Given the description of an element on the screen output the (x, y) to click on. 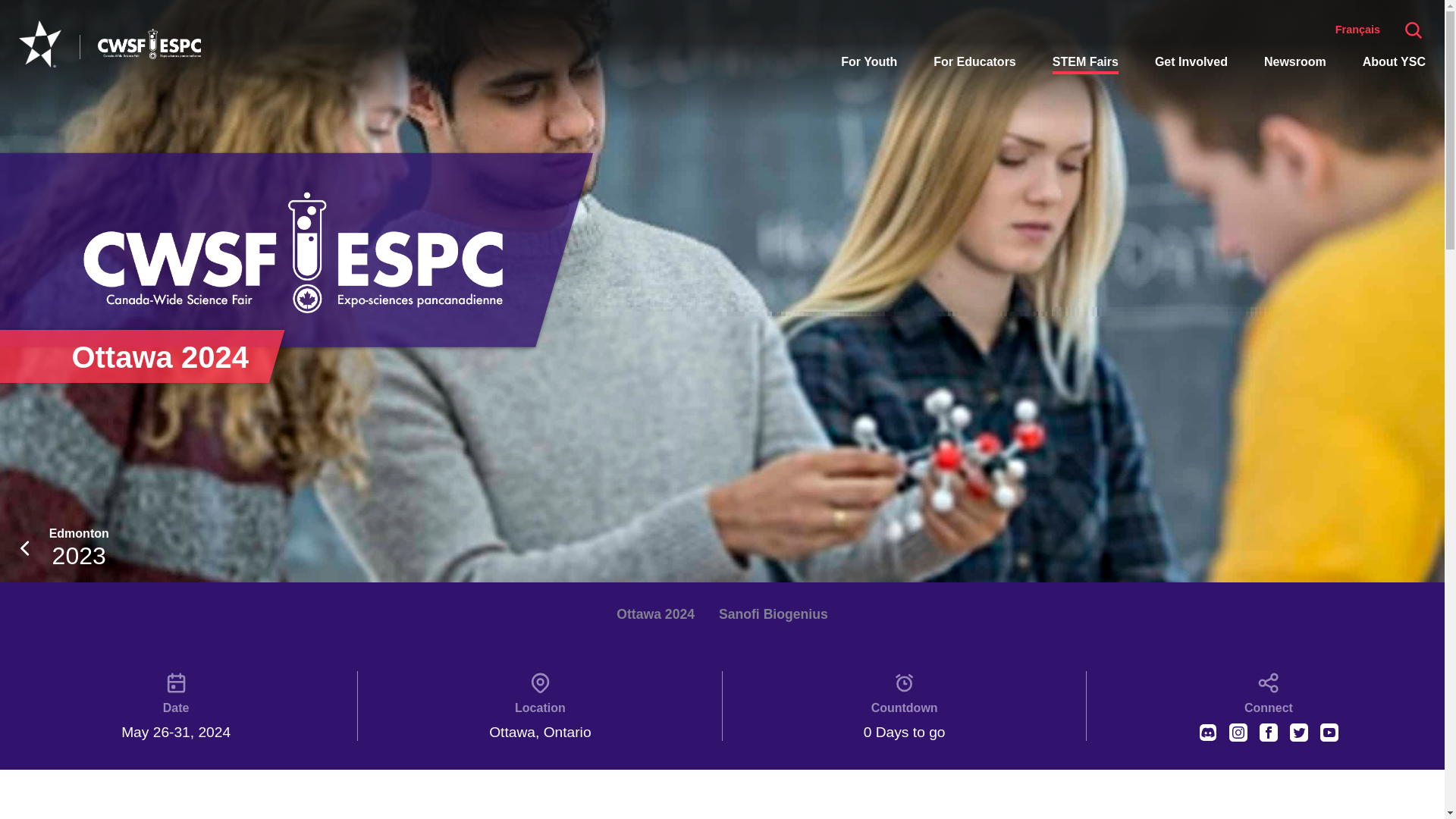
Ottawa 2024 (63, 548)
For Youth (654, 614)
For Educators (868, 61)
Get Involved (973, 61)
About YSC (1190, 61)
Sanofi Biogenius (1393, 61)
CWSF (773, 614)
STEM Fairs (292, 251)
Newsroom (1085, 63)
